Given the description of an element on the screen output the (x, y) to click on. 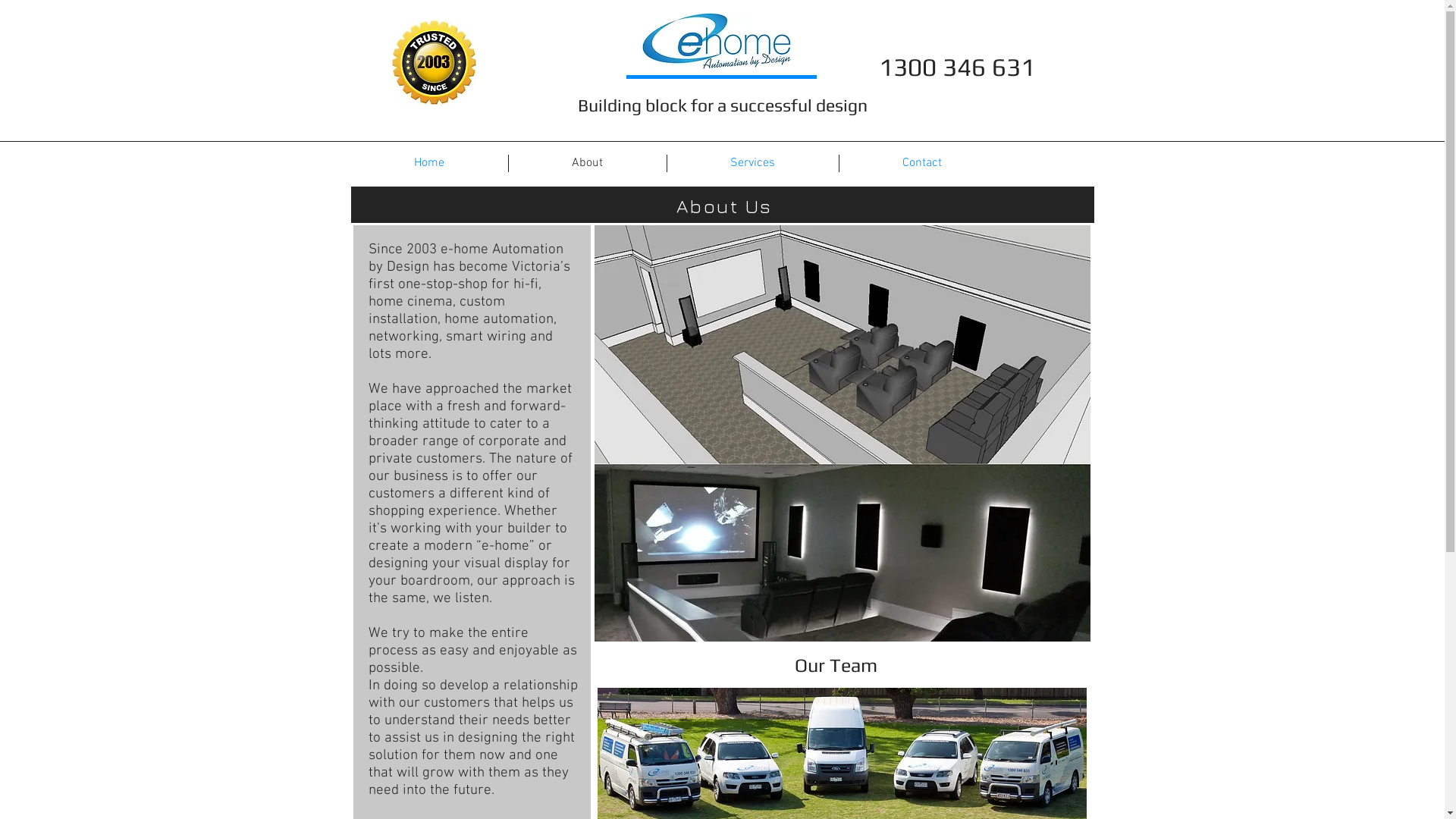
Contact Element type: text (921, 163)
Home Element type: text (428, 163)
About Element type: text (586, 163)
Services Element type: text (752, 163)
Building block for a successful design Element type: text (722, 104)
